Given the description of an element on the screen output the (x, y) to click on. 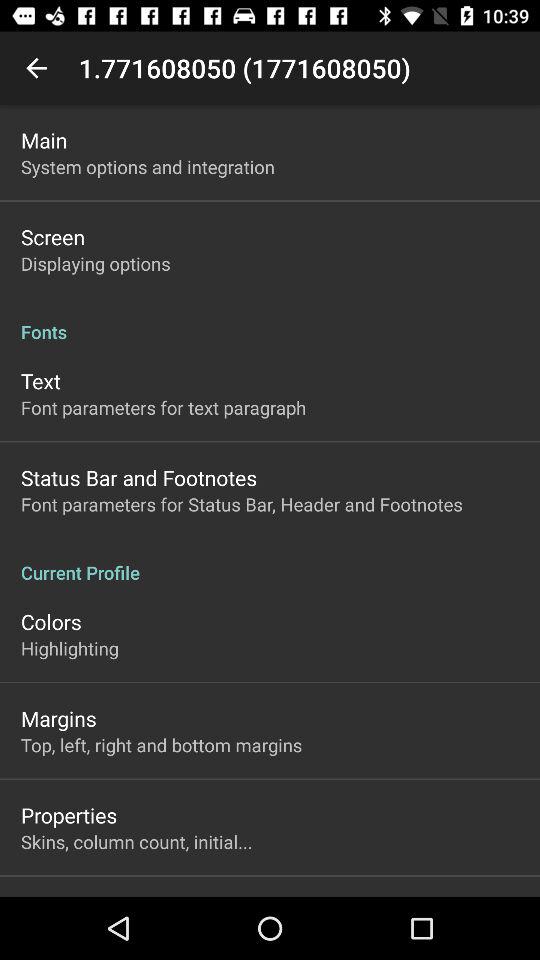
choose app above the system options and app (44, 139)
